Given the description of an element on the screen output the (x, y) to click on. 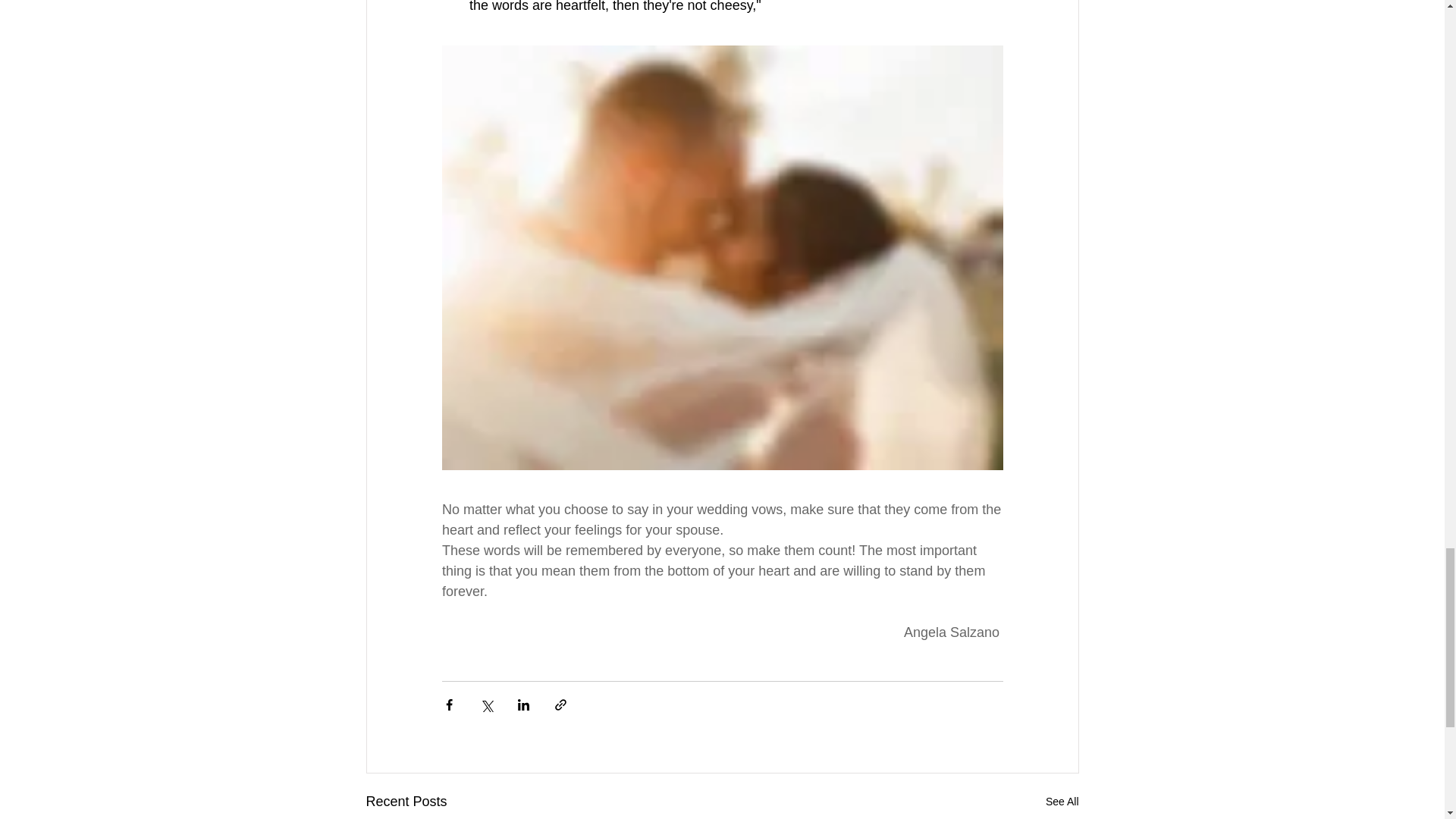
See All (1061, 802)
